Given the description of an element on the screen output the (x, y) to click on. 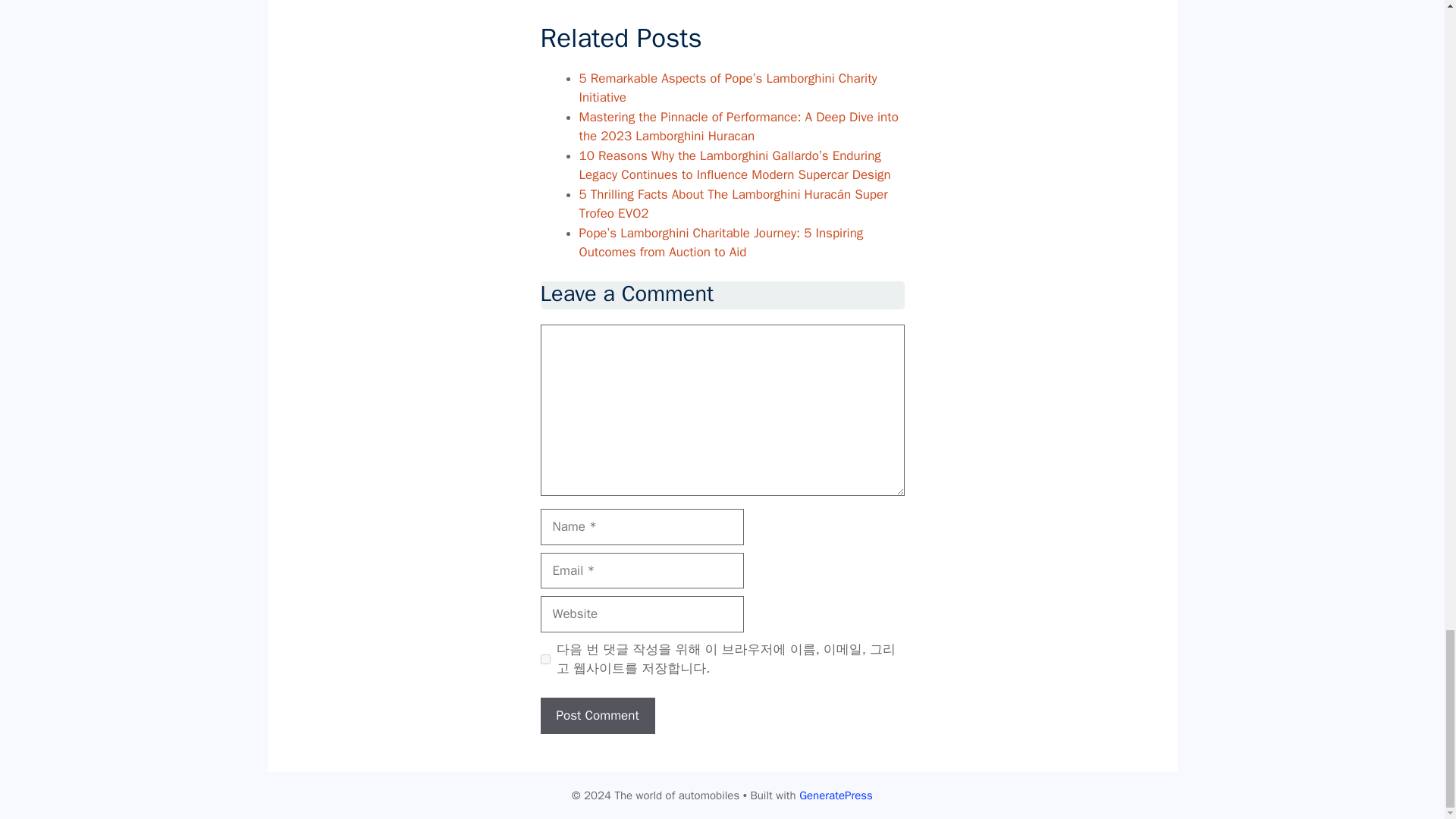
yes (545, 659)
Post Comment (596, 715)
Post Comment (596, 715)
